Given the description of an element on the screen output the (x, y) to click on. 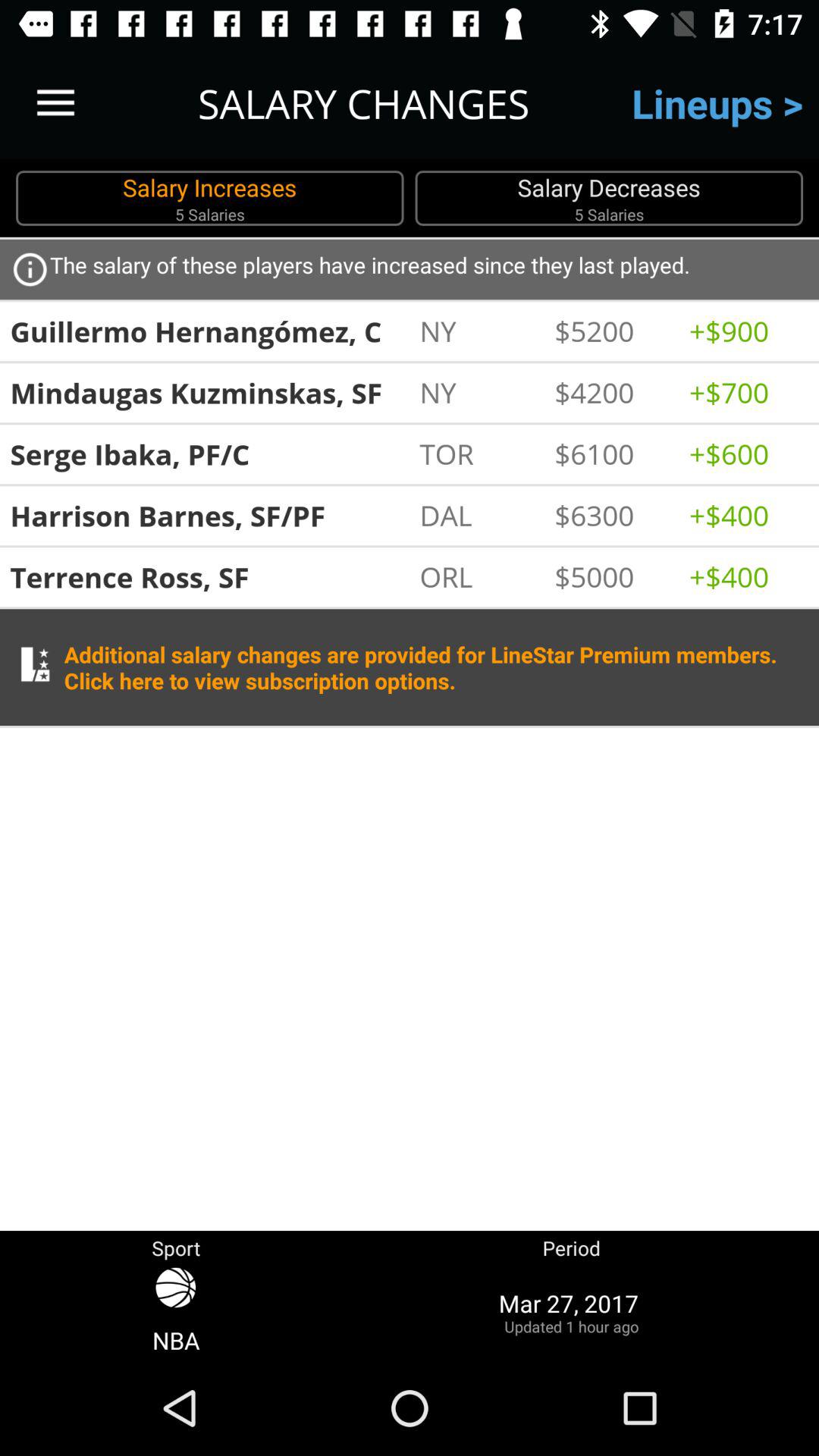
select icon to the right of the dal (613, 515)
